Given the description of an element on the screen output the (x, y) to click on. 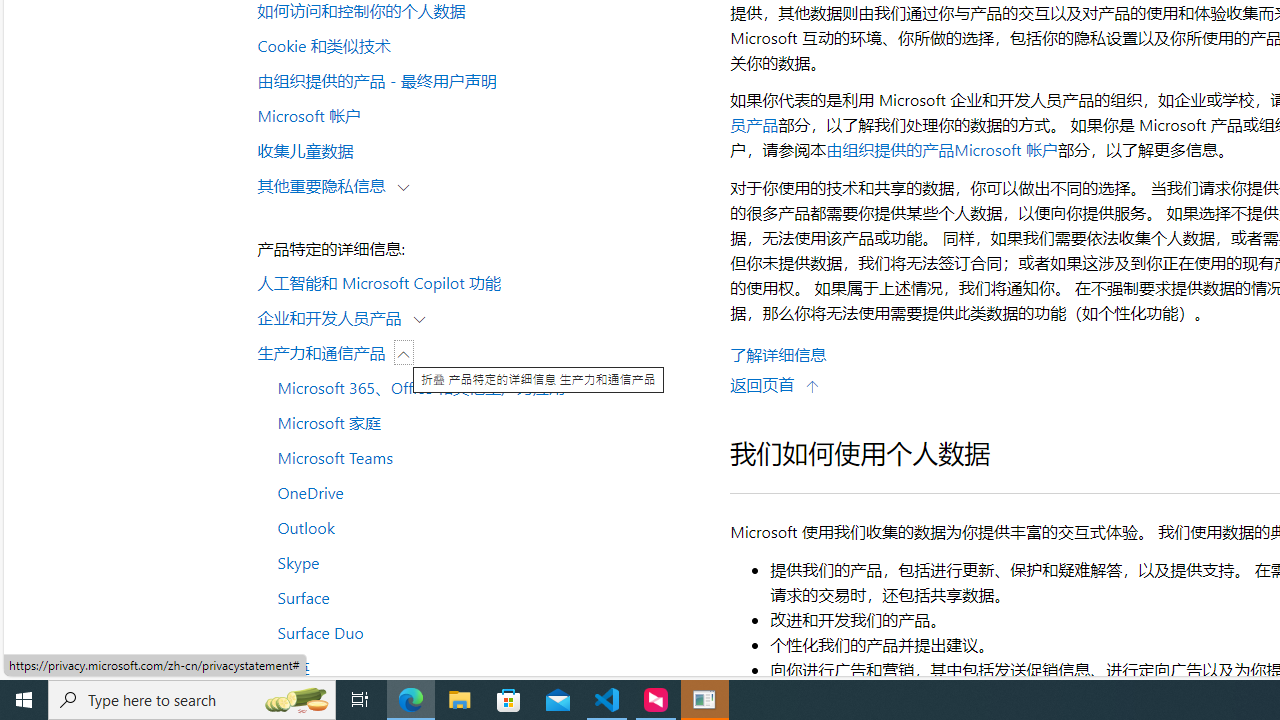
Microsoft Teams (483, 457)
OneDrive (483, 491)
Surface (483, 596)
Surface Duo (483, 632)
